Given the description of an element on the screen output the (x, y) to click on. 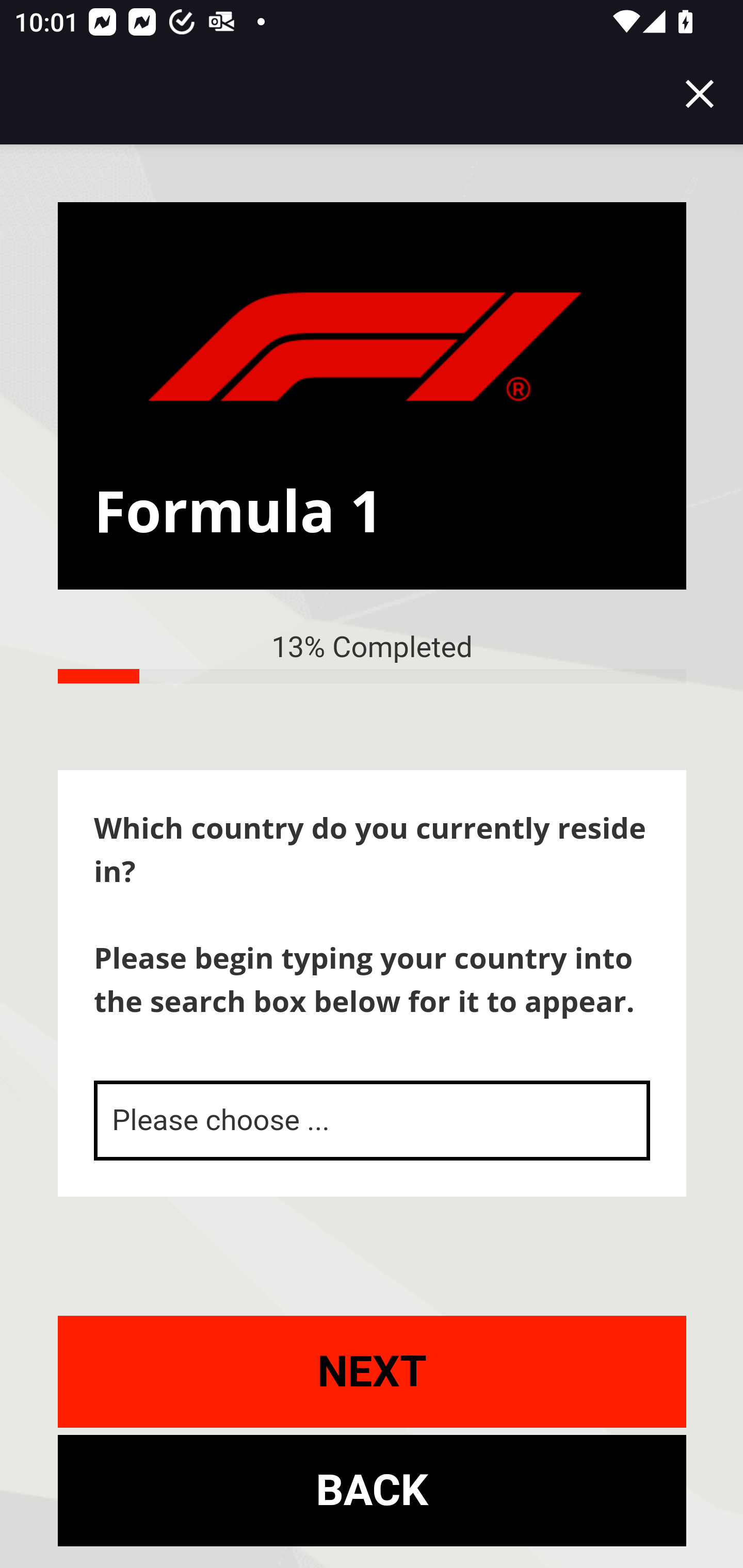
Close (699, 93)
Please choose ... (372, 1119)
NEXT (372, 1370)
BACK (372, 1490)
